Given the description of an element on the screen output the (x, y) to click on. 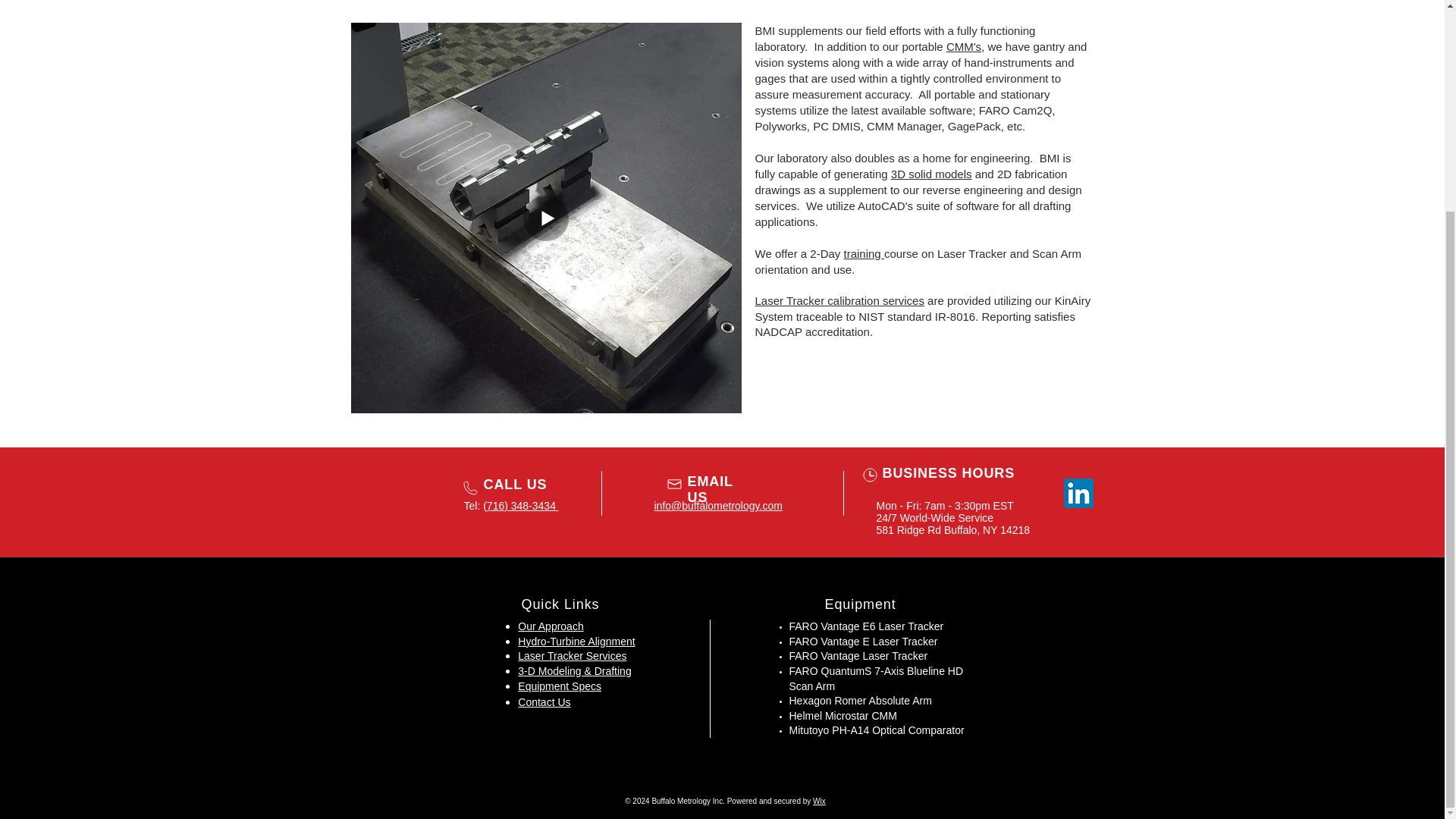
Our Approach (550, 625)
Laser Tracker Services (572, 655)
Equipment Specs (559, 686)
Wix (818, 800)
training (863, 253)
3D solid models (931, 173)
Hydro-Turbine Alignment (576, 641)
CMM's (963, 46)
Contact Us (544, 702)
Laser Tracker calibration services (839, 300)
